Given the description of an element on the screen output the (x, y) to click on. 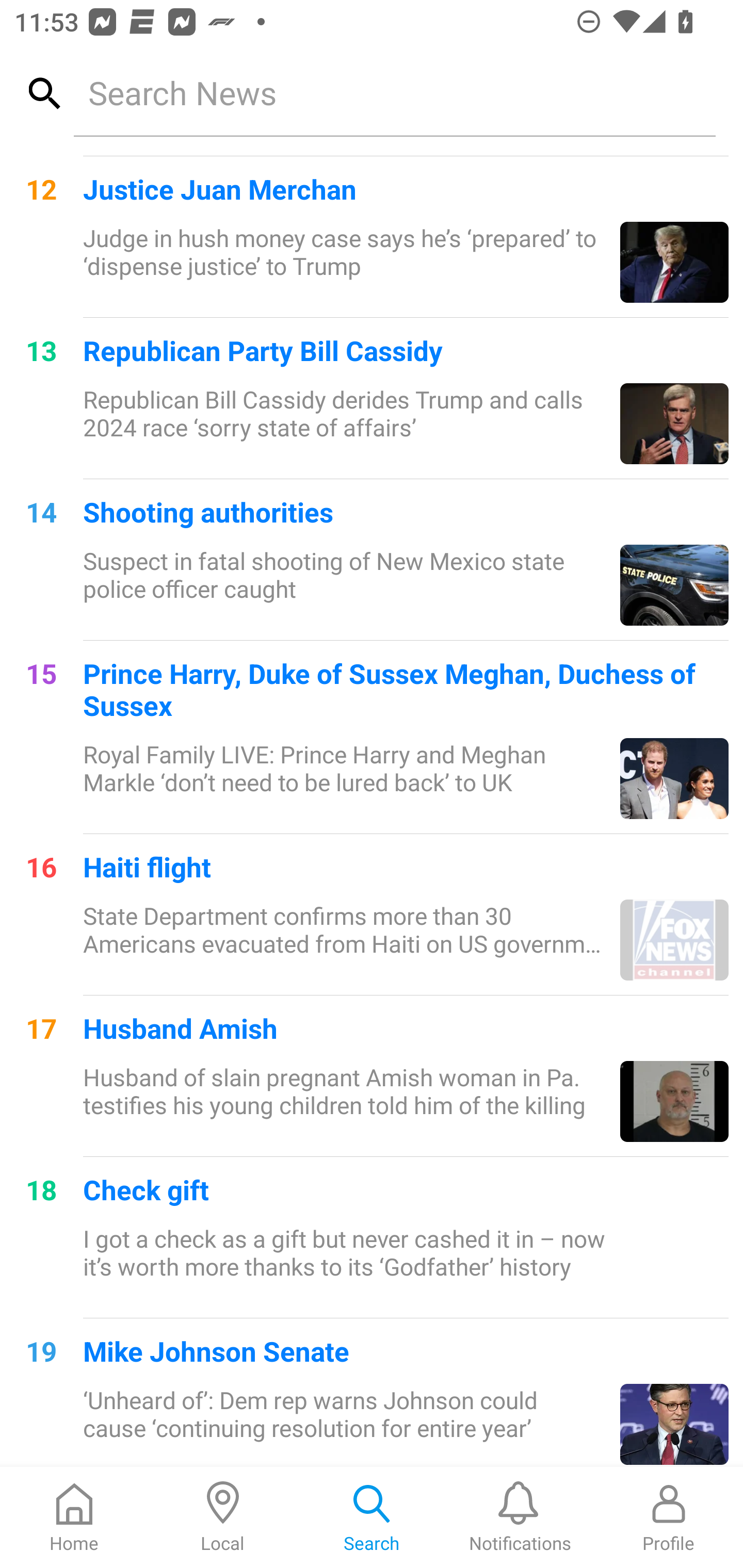
Search News (394, 92)
Home (74, 1517)
Local (222, 1517)
Notifications (519, 1517)
Profile (668, 1517)
